Given the description of an element on the screen output the (x, y) to click on. 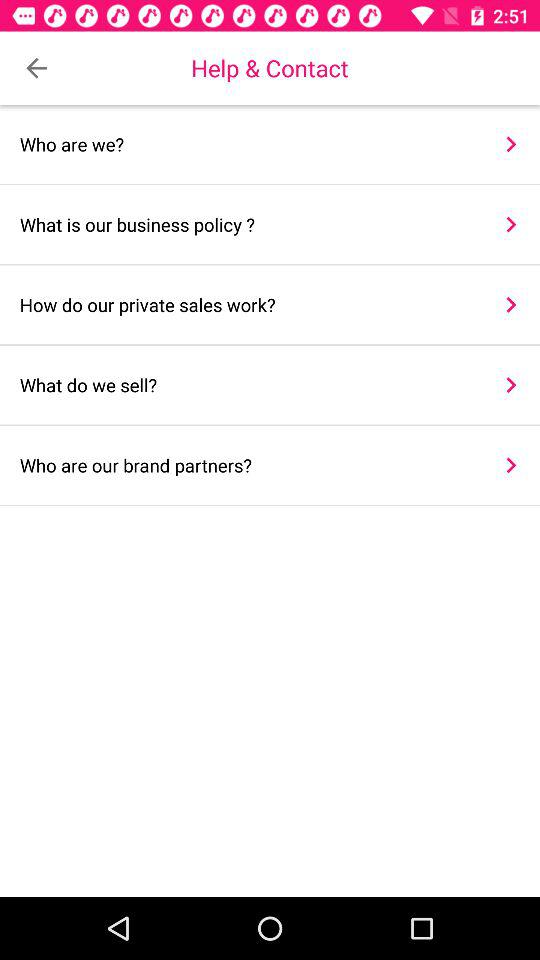
tap the icon above who are we? item (36, 68)
